Given the description of an element on the screen output the (x, y) to click on. 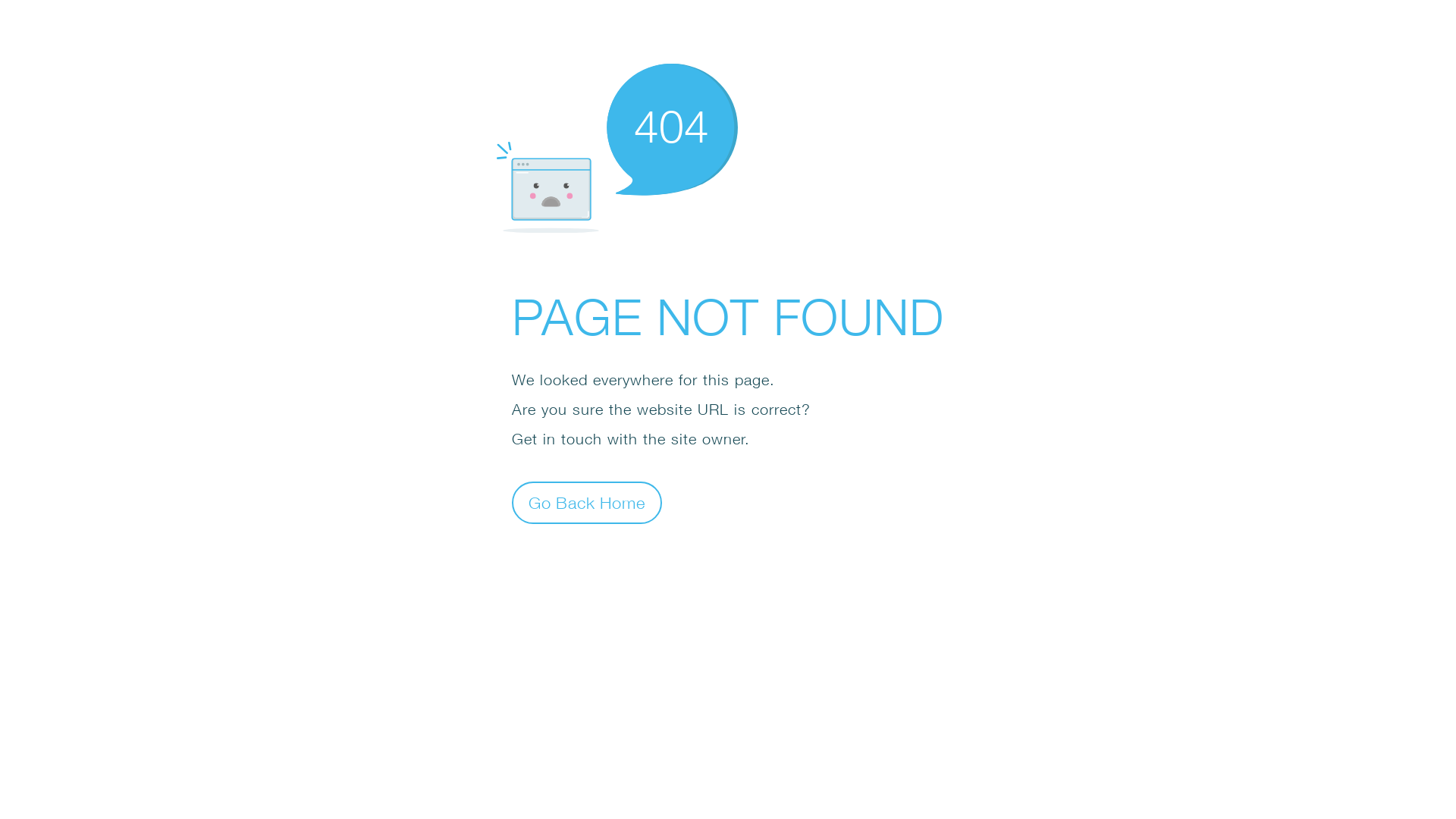
Go Back Home Element type: text (586, 502)
